Given the description of an element on the screen output the (x, y) to click on. 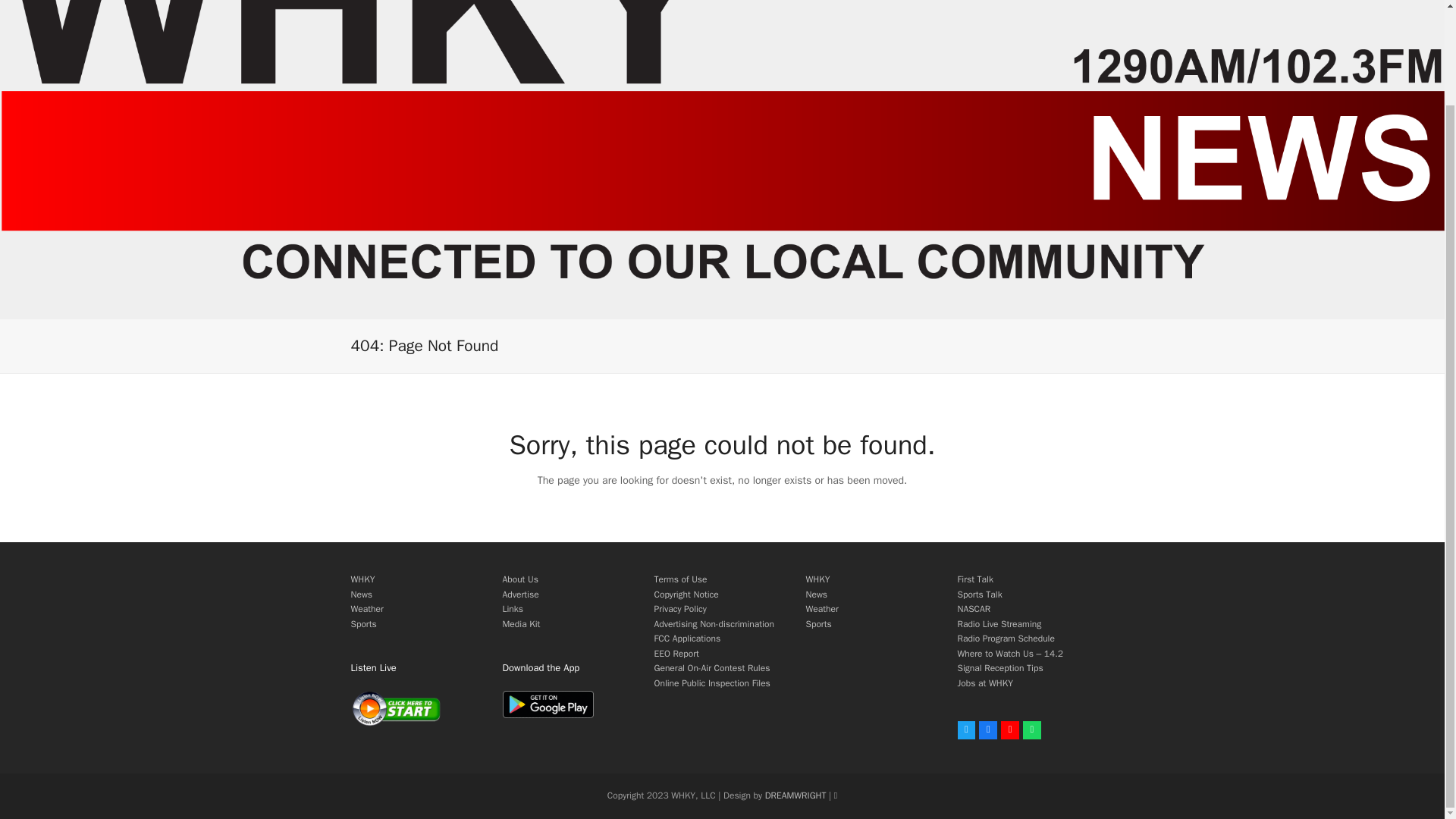
NASCAR (973, 608)
Sports Talk (978, 594)
Youtube (1010, 730)
Radio Program Schedule (1005, 638)
General On-Air Contest Rules (711, 667)
Advertising Non-discrimination (713, 623)
FCC Applications (686, 638)
Weather (821, 608)
Twitter (965, 730)
DREAMWRIGHT web design (796, 795)
